Given the description of an element on the screen output the (x, y) to click on. 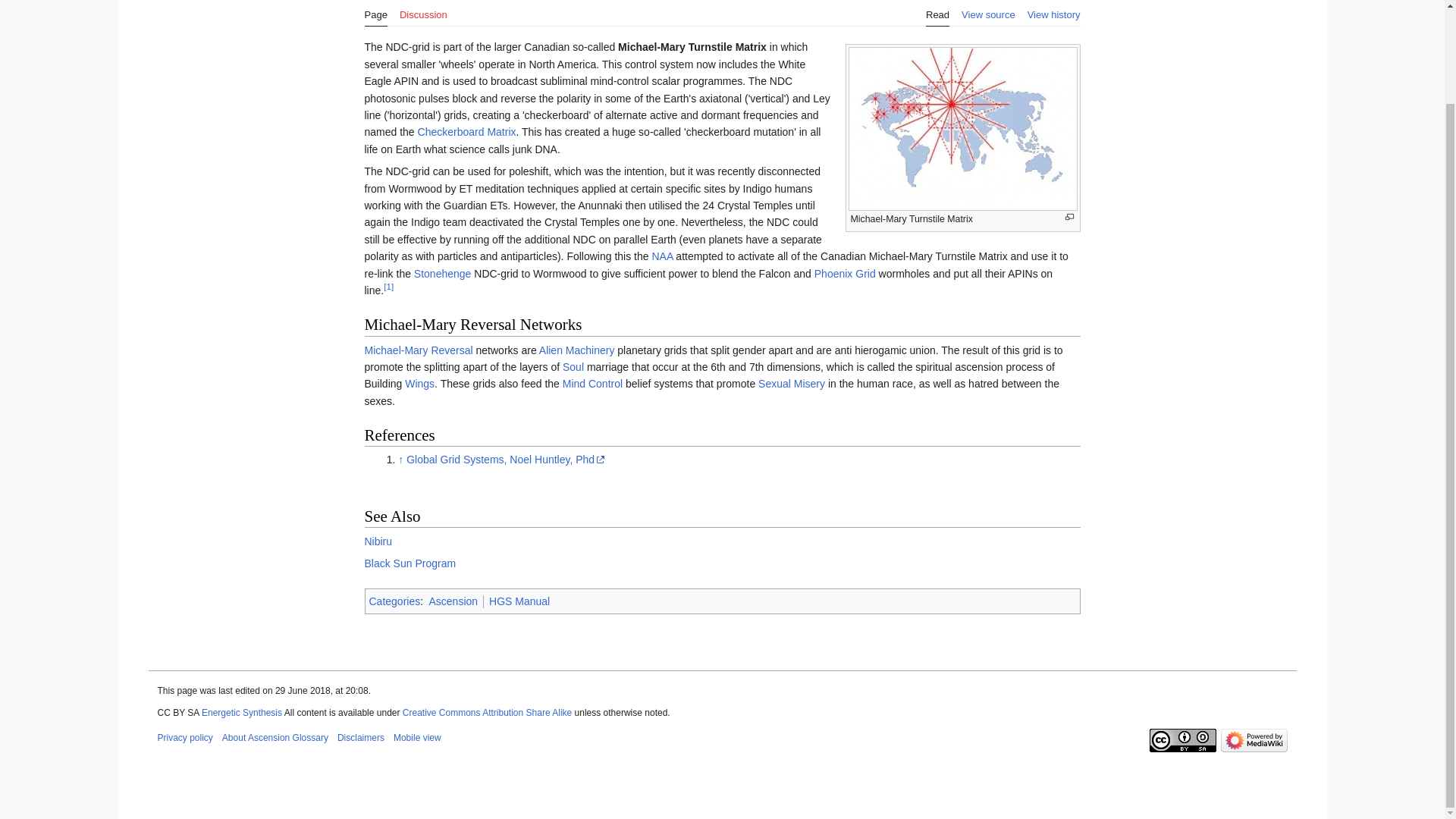
Alien Machinery (576, 349)
Sexual Misery (791, 383)
Discussion (422, 13)
Michael-Mary Turnstile Matrix (692, 46)
Soul (572, 367)
Michael-Mary Reversal (417, 349)
Page (375, 13)
View history (1053, 13)
Phoenix Grid (844, 273)
Checkerboard Matrix (466, 132)
Mind Control (592, 383)
View source (987, 13)
NAA (661, 256)
Wings (418, 383)
Stonehenge (442, 273)
